Given the description of an element on the screen output the (x, y) to click on. 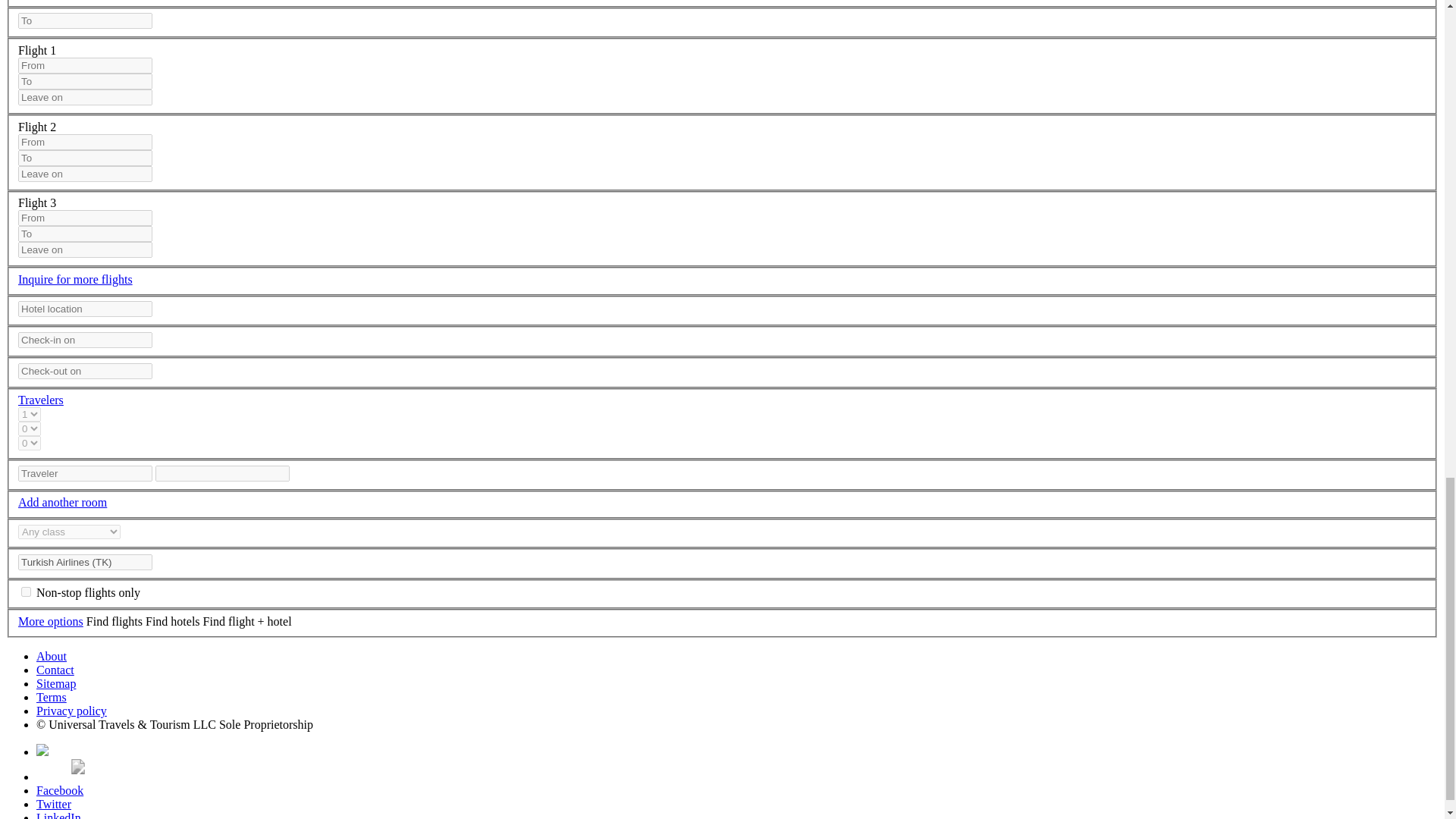
Add another room (61, 502)
Terms (51, 697)
Privacy policy (71, 710)
Inquire for more flights (74, 278)
About (51, 656)
Find flights (113, 621)
Sitemap (55, 683)
Travelers (40, 399)
Contact (55, 669)
More options (49, 621)
Find hotels (172, 621)
